Given the description of an element on the screen output the (x, y) to click on. 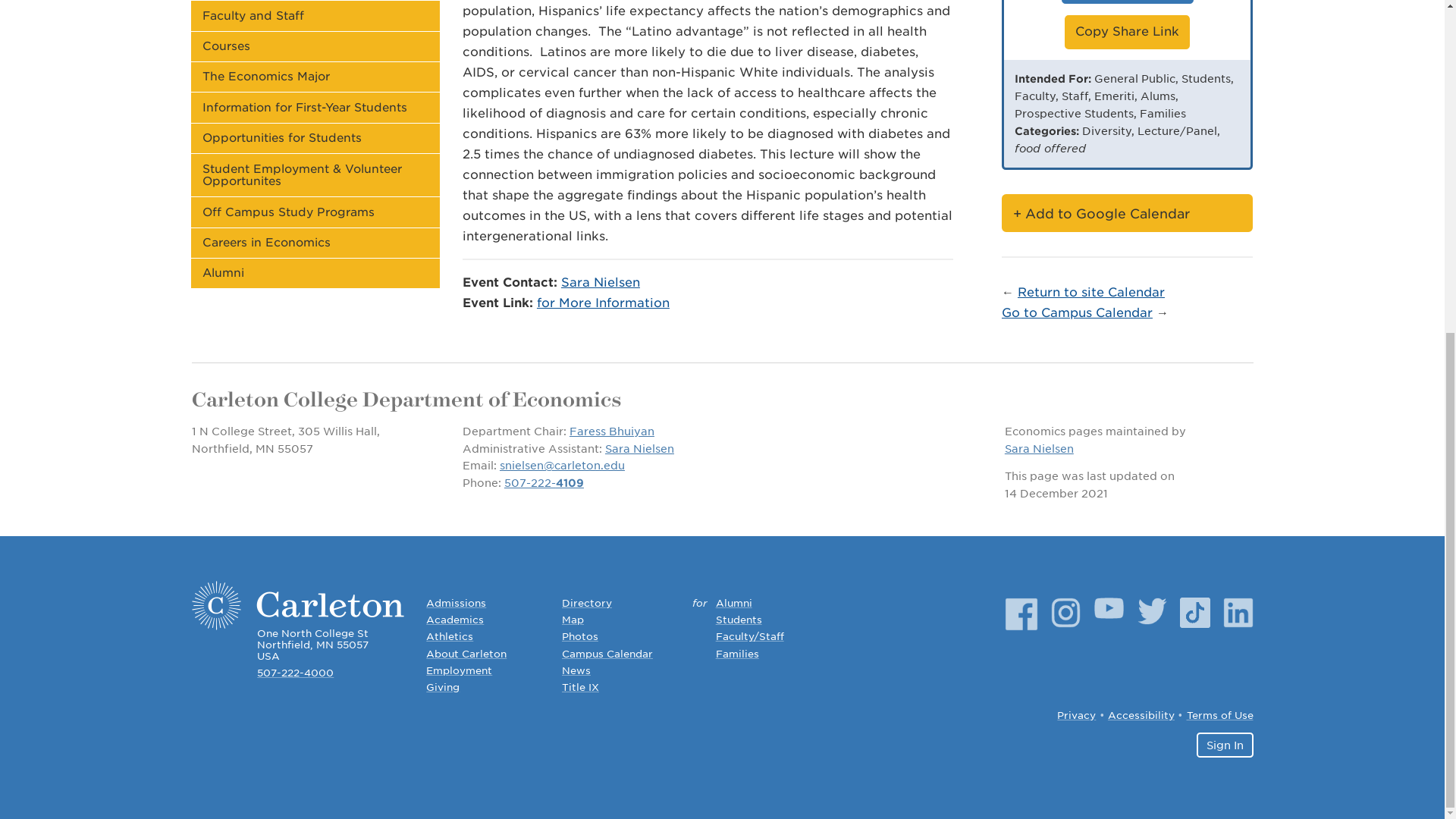
Go to Campus Calendar (1077, 312)
More Information (1127, 2)
Return to site Calendar (1090, 292)
Copy Share Link (1126, 32)
Sara Nielsen (600, 282)
for More Information (603, 302)
